Given the description of an element on the screen output the (x, y) to click on. 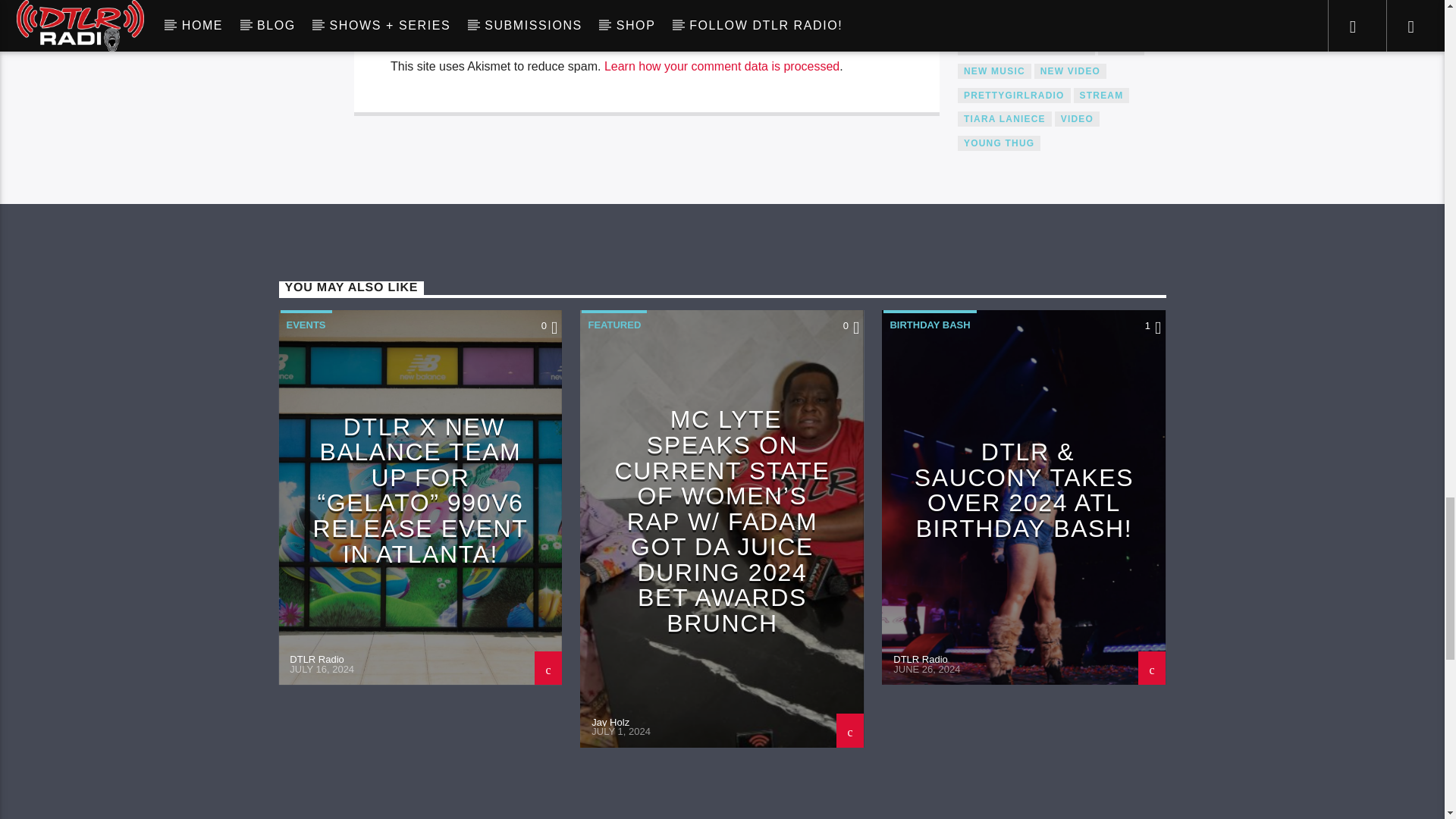
Post Comment (452, 32)
Posts by DTLR Radio (920, 659)
Posts by DTLR Radio (316, 659)
Posts by Jay Holz (609, 722)
